Given the description of an element on the screen output the (x, y) to click on. 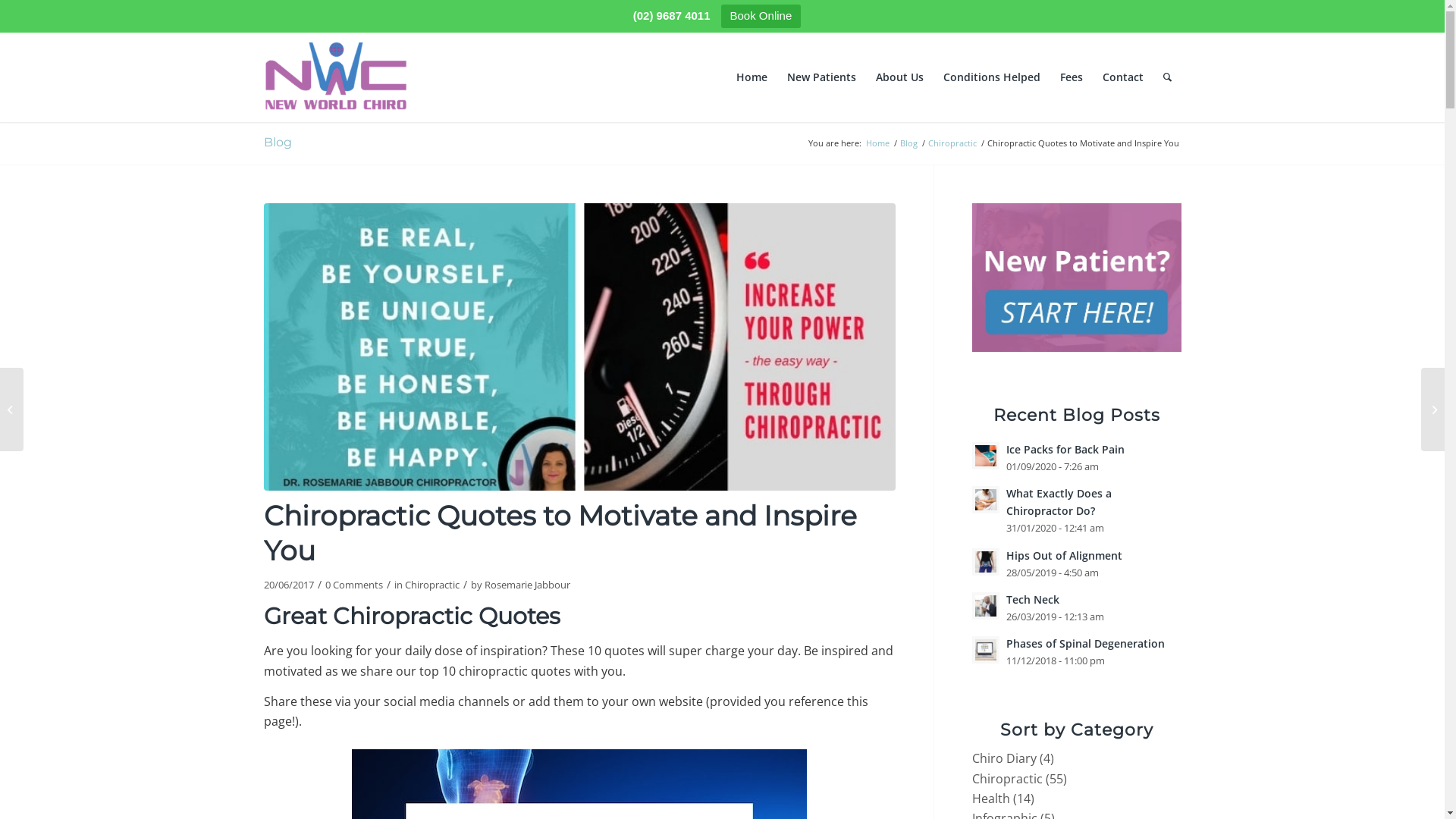
Blog Element type: text (908, 142)
Chiropractic Element type: text (951, 142)
Home Element type: text (751, 77)
Book Online Element type: text (761, 16)
Read: Tech Neck Element type: hover (985, 605)
Chiropractic Element type: text (431, 584)
0 Comments Element type: text (353, 584)
Chiro Diary Element type: text (1004, 757)
Hips Out of Alignment Element type: text (1064, 555)
Chiropractic Element type: text (1007, 778)
New Patients Element type: text (820, 77)
Read: Hips Out of Alignment Element type: hover (985, 561)
Ice Packs for Back Pain Element type: text (1065, 449)
Blog Element type: text (277, 141)
(02) 9687 4011 Element type: text (671, 15)
Fees Element type: text (1070, 77)
Home Element type: text (876, 142)
New-World-Chiro-Parramatta-logo-1 Element type: hover (335, 77)
Contact Element type: text (1122, 77)
chiropractic-quotes Element type: hover (579, 346)
Read: Ice Packs for Back Pain Element type: hover (985, 455)
Rosemarie Jabbour Element type: text (526, 584)
Tech Neck Element type: text (1032, 599)
Health Element type: text (991, 798)
Conditions Helped Element type: text (990, 77)
What Exactly Does a Chiropractor Do? Element type: text (1058, 501)
Read: Phases of Spinal Degeneration Element type: hover (985, 649)
About Us Element type: text (899, 77)
Phases of Spinal Degeneration Element type: text (1085, 643)
Read: What Exactly Does a Chiropractor Do? Element type: hover (985, 499)
